Given the description of an element on the screen output the (x, y) to click on. 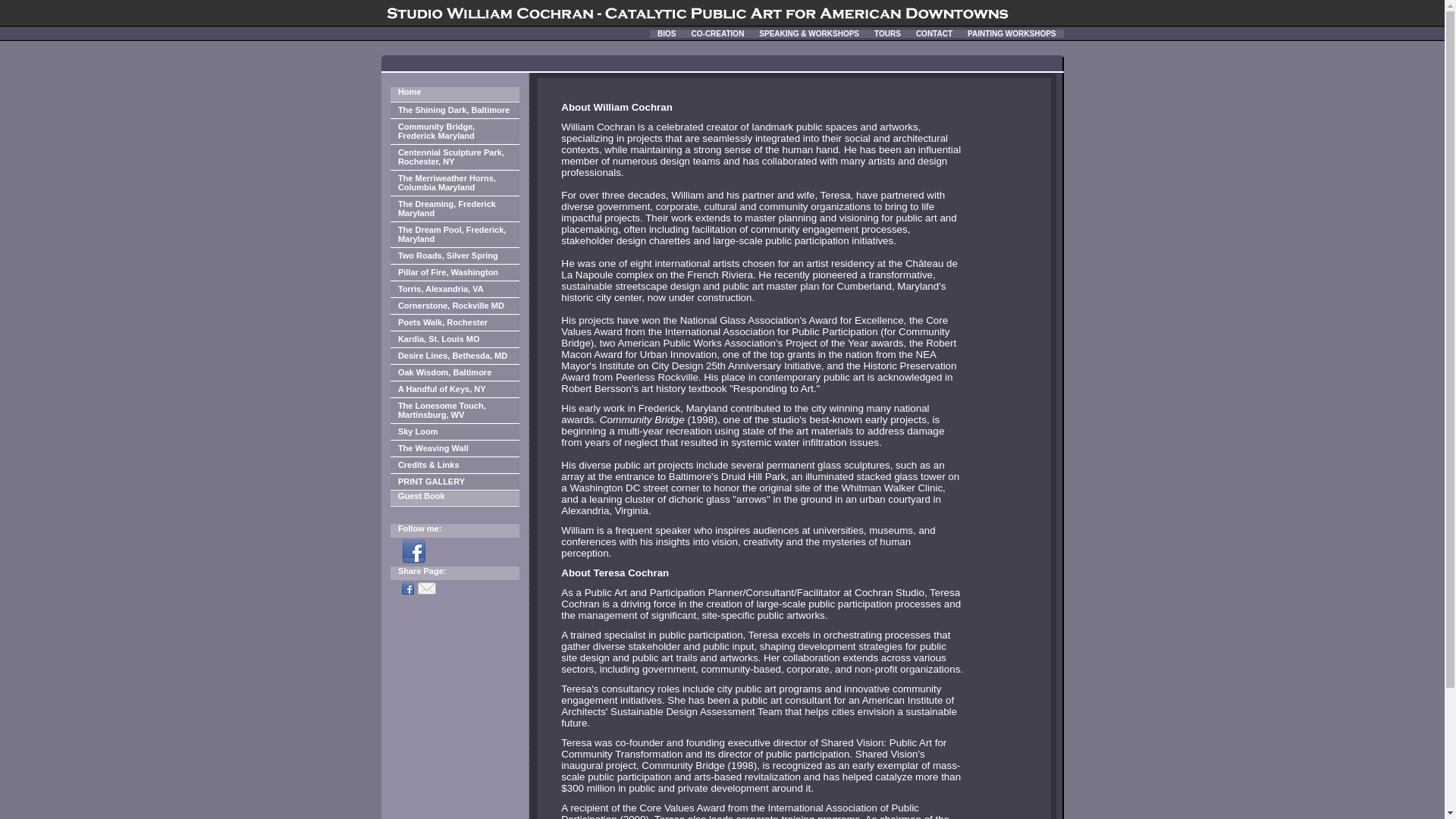
Community Bridge, Frederick Maryland (454, 131)
Cornerstone, Rockville MD (454, 305)
PAINTING WORKSHOPS (1010, 32)
The Weaving Wall (454, 448)
A Handful of Keys, NY (454, 389)
Home (454, 93)
BIOS (665, 32)
Facebook (409, 588)
Kardia, St. Louis MO (454, 339)
Centennial Sculpture Park, Rochester, NY (454, 156)
Email (428, 588)
Share Page: (454, 572)
Pillar of Fire, Washington (454, 272)
CO-CREATION (718, 32)
The Dream Pool, Frederick, Maryland (454, 234)
